Given the description of an element on the screen output the (x, y) to click on. 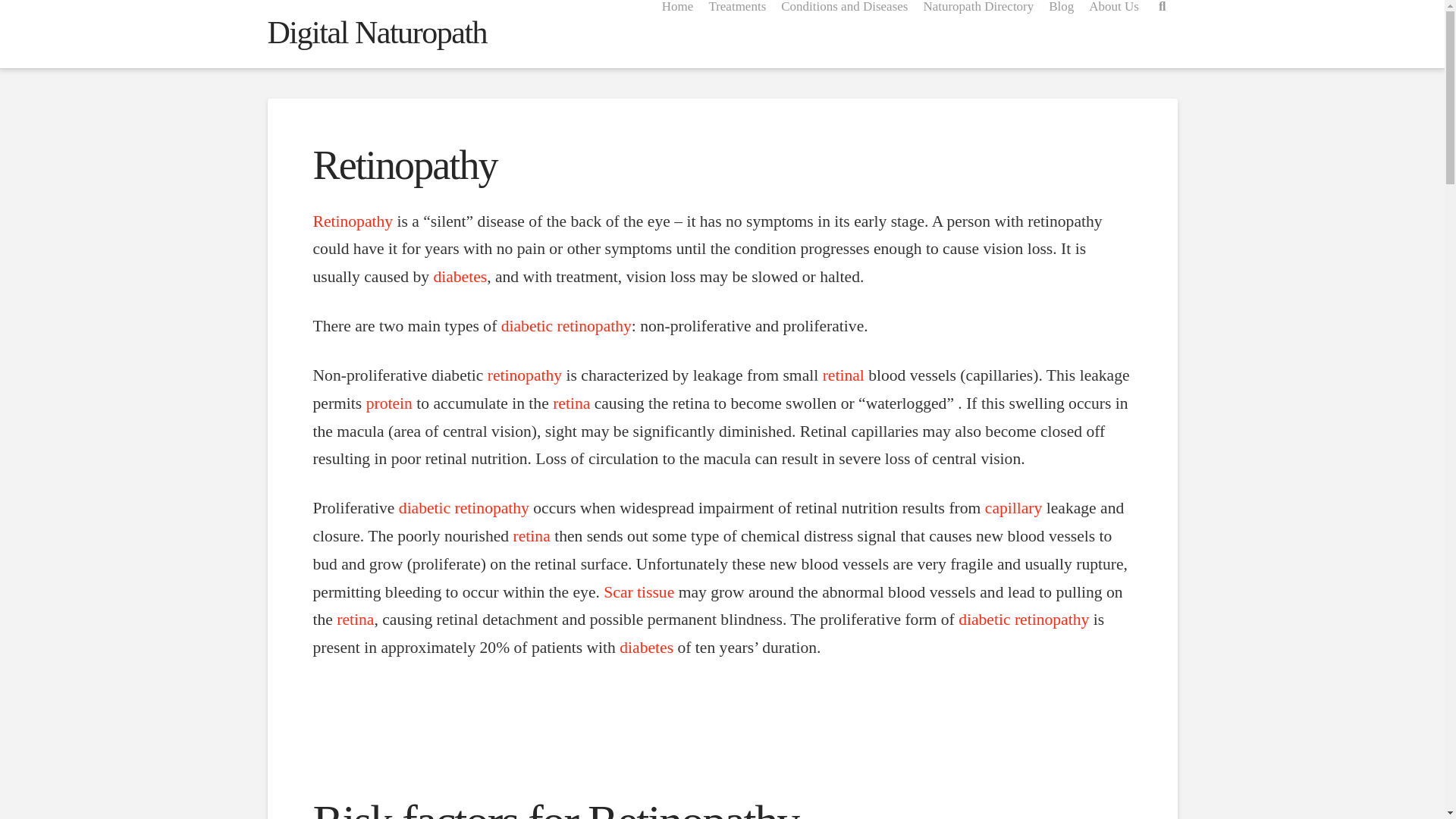
protein (389, 402)
retina (355, 619)
Conditions and Diseases (844, 33)
capillary (1013, 507)
About Us (1114, 33)
Scar tissue (639, 591)
diabetic retinopathy (463, 507)
diabetic retinopathy (1023, 619)
diabetes (646, 647)
diabetes (459, 276)
retina (531, 536)
retinopathy (524, 375)
Digital Naturopath (376, 32)
Treatments (736, 33)
Retinopathy (353, 221)
